Given the description of an element on the screen output the (x, y) to click on. 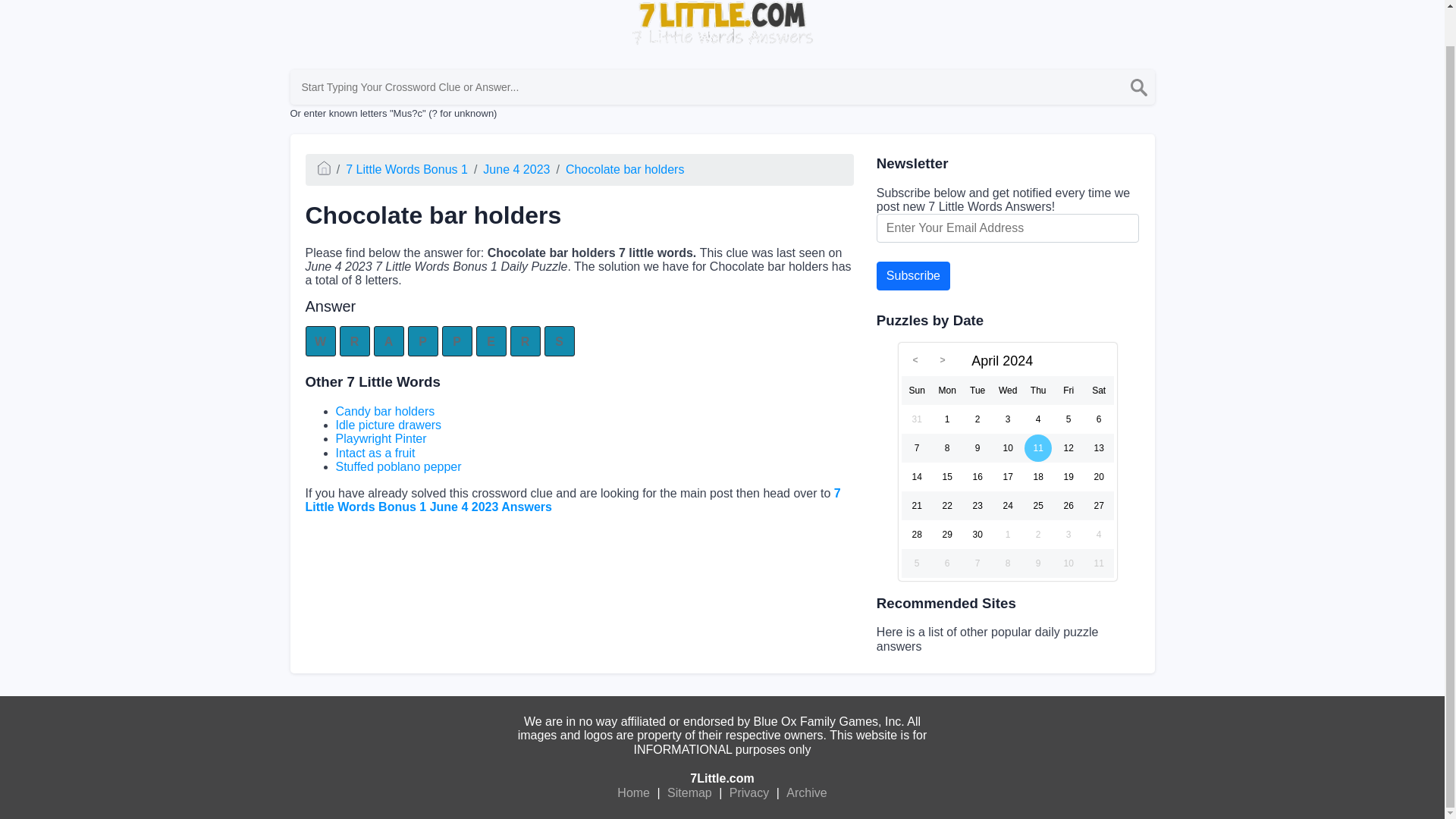
June 4 2023 (516, 169)
Stuffed poblano pepper (397, 466)
Candy bar holders (383, 410)
Home (632, 792)
7 Little Words Bonus 1 June 4 2023 Answers (572, 499)
7 Little Words Bonus 1 (406, 169)
Subscribe (913, 275)
Privacy (749, 792)
Archive (806, 792)
Sitemap (689, 792)
Idle picture drawers (387, 424)
Intact as a fruit (374, 452)
Subscribe (913, 275)
Chocolate bar holders (625, 169)
Playwright Pinter (380, 438)
